Given the description of an element on the screen output the (x, y) to click on. 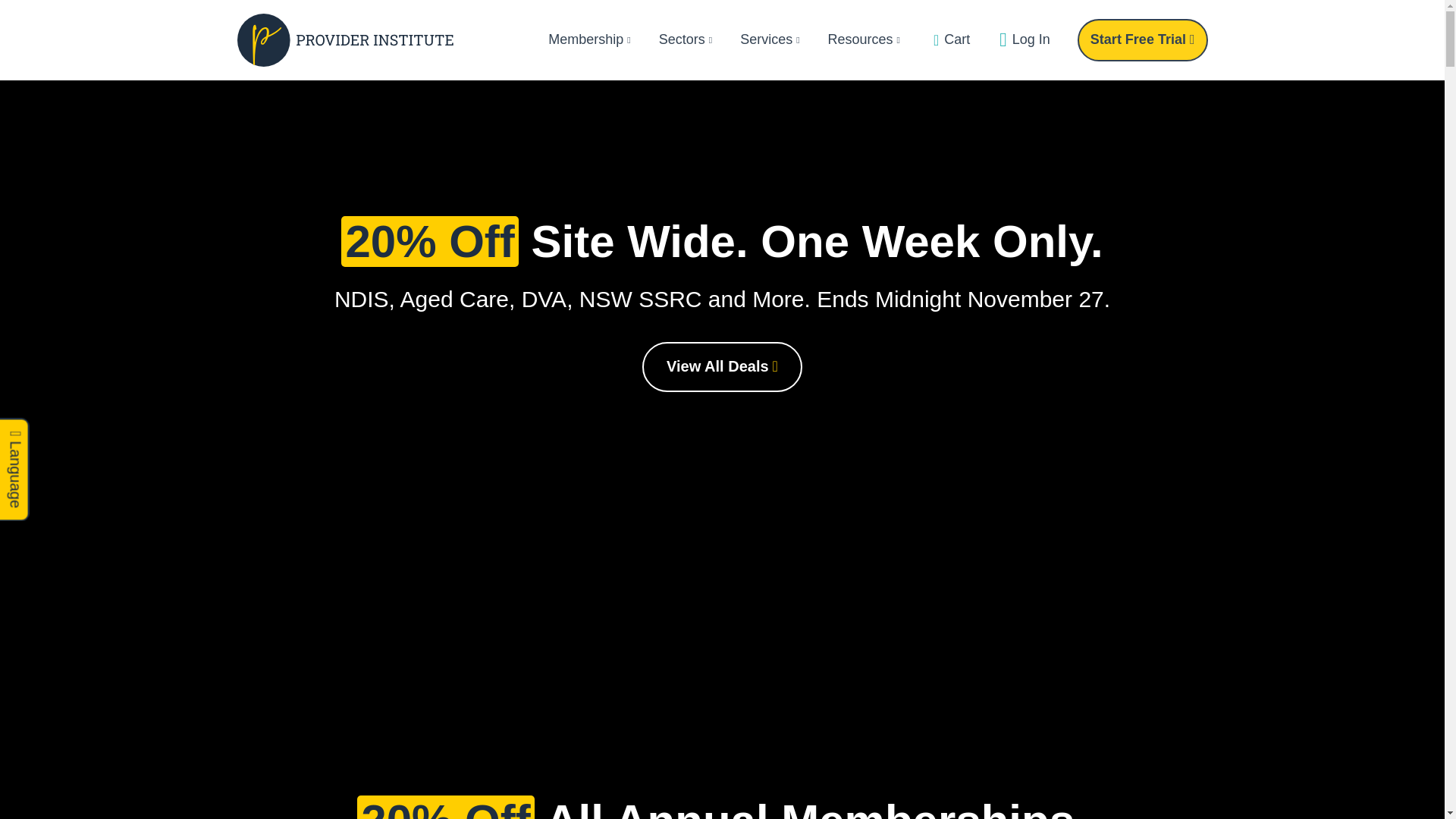
Membership Element type: text (591, 40)
Sectors Element type: text (687, 40)
View All Deals Element type: text (722, 367)
Services Element type: text (771, 40)
Cart Element type: text (949, 40)
Log In Element type: text (1022, 40)
Resources Element type: text (865, 40)
Start Free Trial Element type: text (1142, 39)
